Given the description of an element on the screen output the (x, y) to click on. 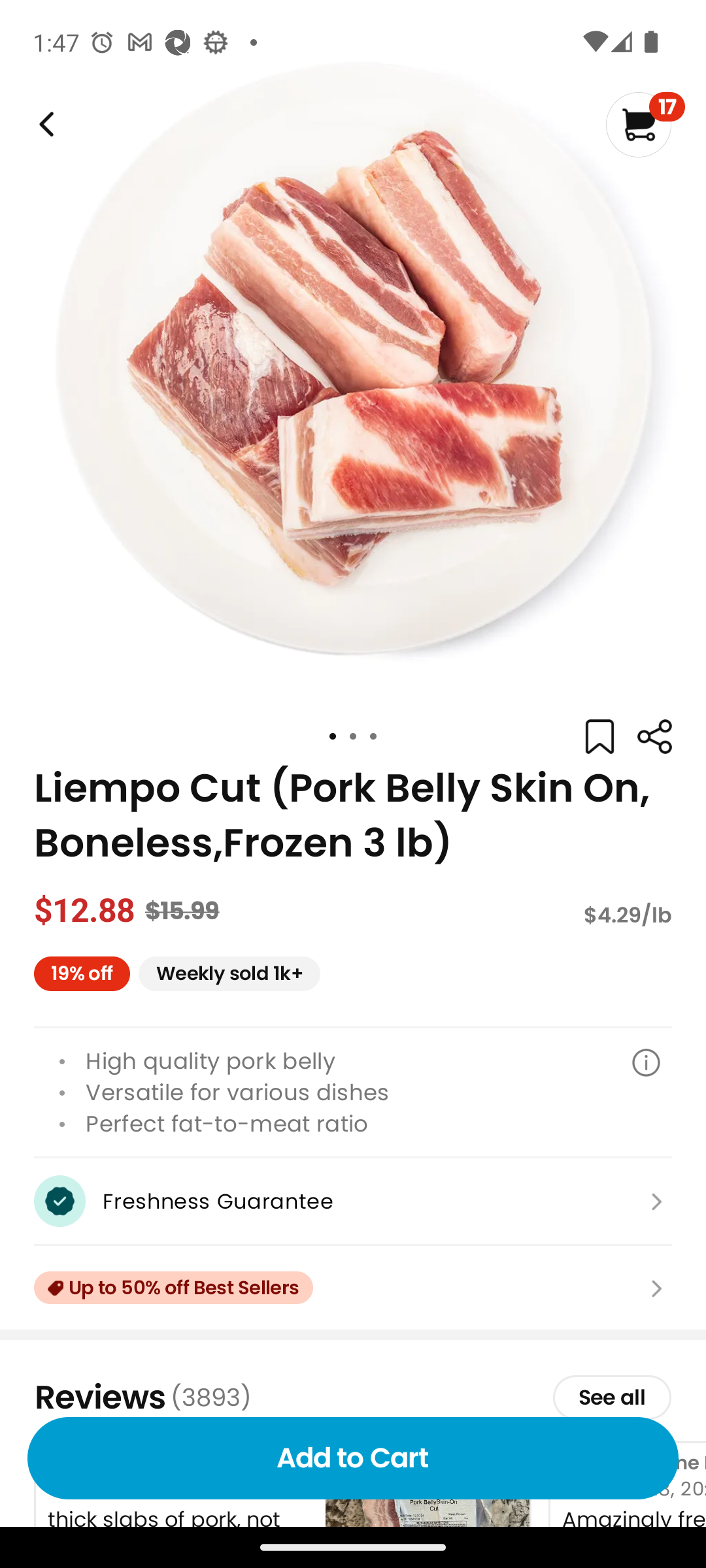
17 (644, 124)
Weee! (45, 124)
Weee! (653, 736)
Freshness Guarantee (352, 1200)
Up to 50% off Best Sellers (352, 1287)
Reviews (3893) See all (353, 1397)
Add to Cart (352, 1458)
